Given the description of an element on the screen output the (x, y) to click on. 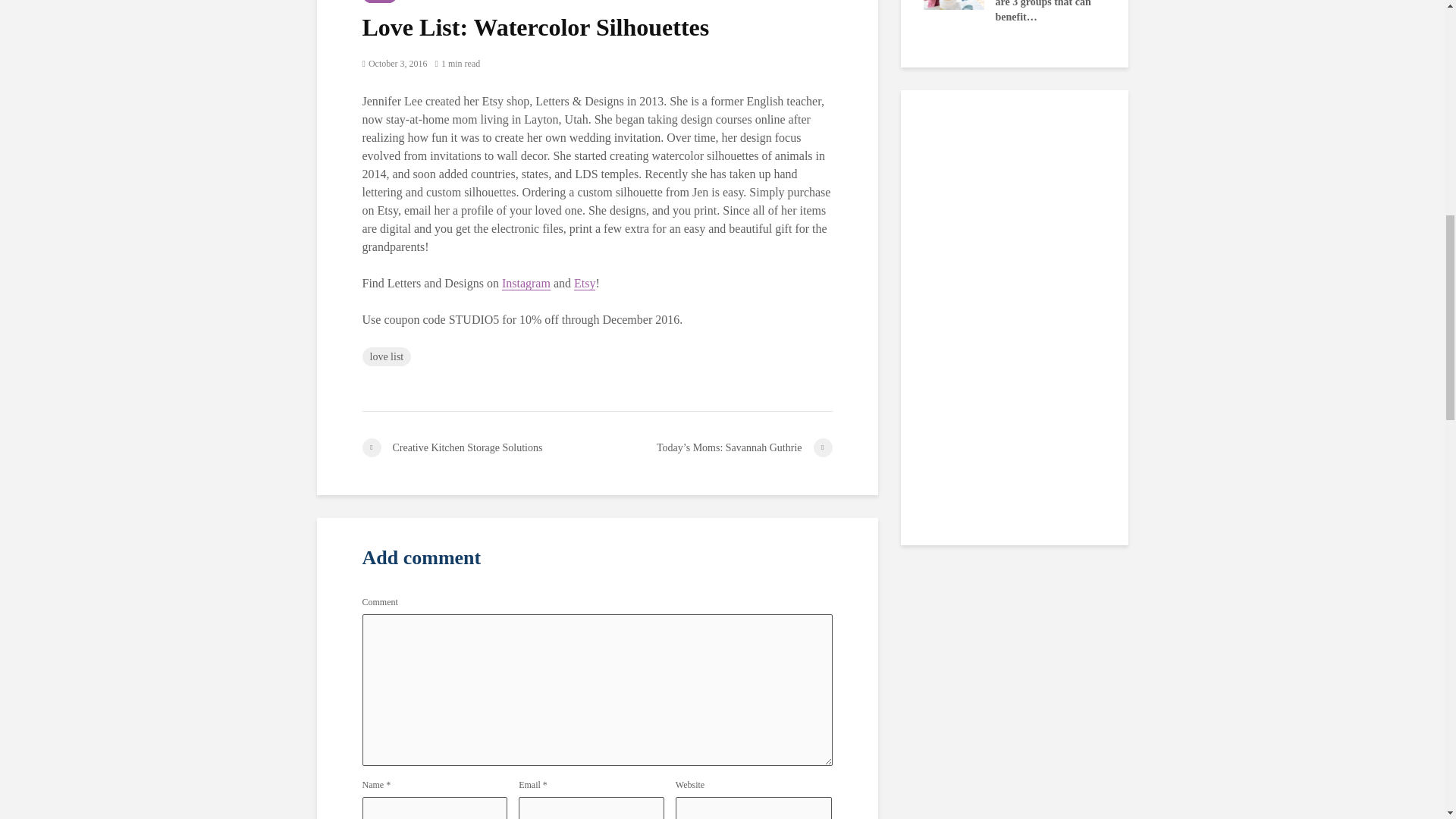
Creative Kitchen Storage Solutions (479, 447)
Instagram (526, 283)
MISC (379, 1)
love list (387, 356)
Etsy (584, 283)
